Given the description of an element on the screen output the (x, y) to click on. 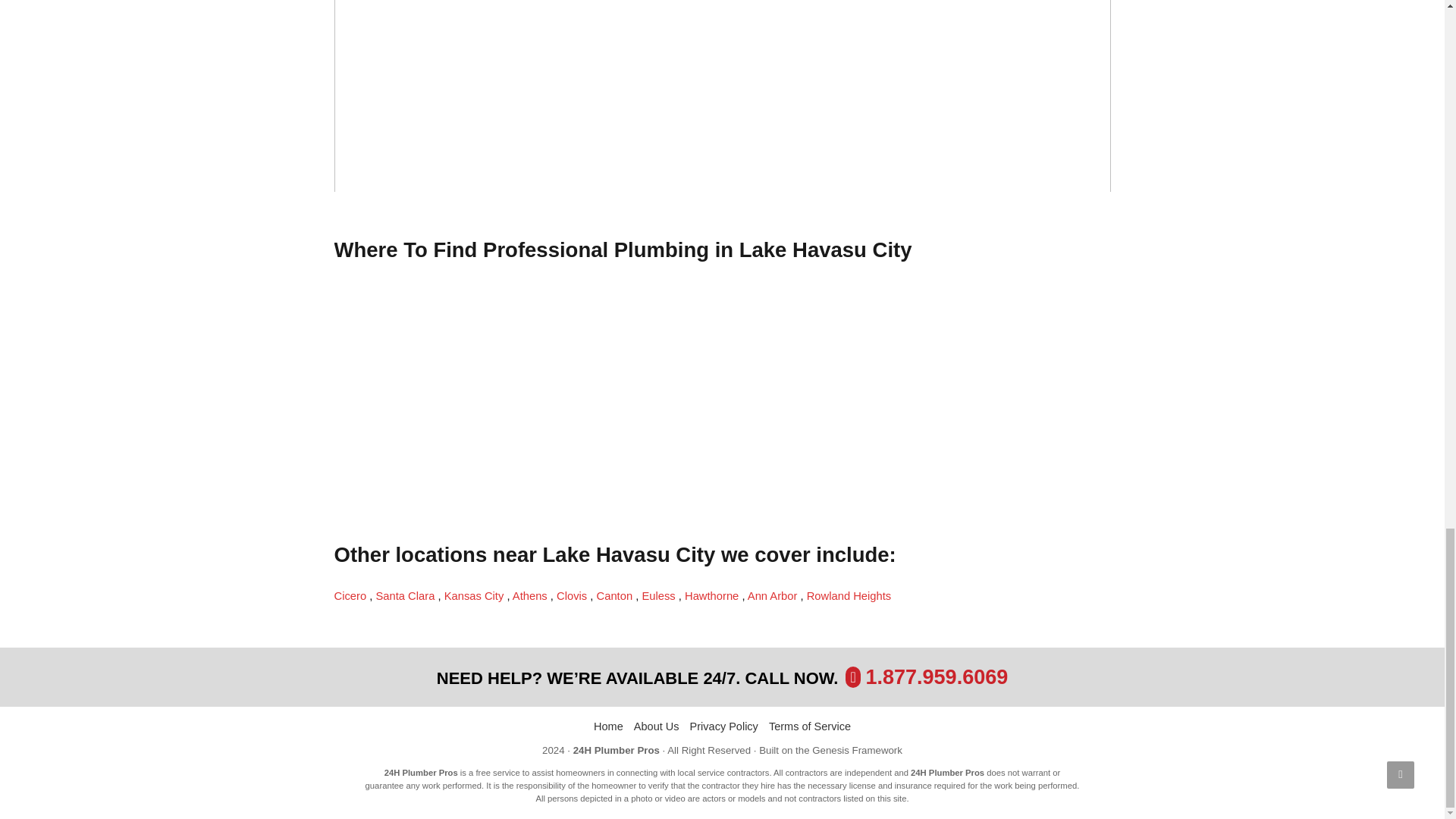
Emergency Plumber in Santa Clara (406, 595)
Emergency Plumber Athens, GA (531, 595)
Emergency Plumber Kansas City, KS (475, 595)
Emergency Plumber Rowland Heights, CA (848, 595)
Cicero (351, 595)
About Us (656, 727)
Clovis (572, 595)
Hawthorne (712, 595)
Emergency Plumber in Cicero, IL (351, 595)
Emergency Plumber Euless, TX (660, 595)
